Given the description of an element on the screen output the (x, y) to click on. 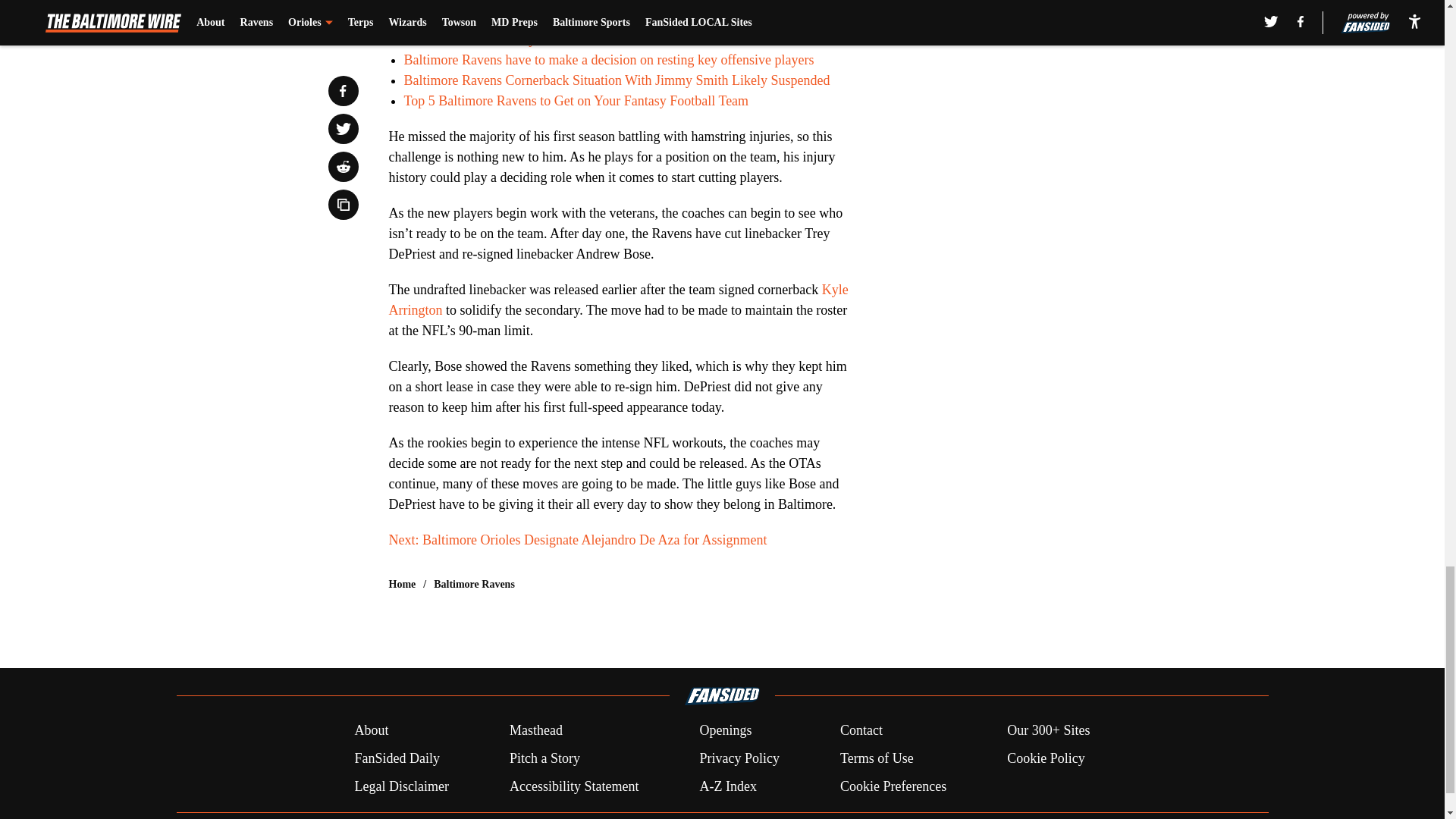
Top 5 Baltimore Ravens to Get on Your Fantasy Football Team (575, 100)
Kyle Arrington (617, 299)
About (370, 730)
Baltimore Ravens (474, 584)
Home (401, 584)
